Given the description of an element on the screen output the (x, y) to click on. 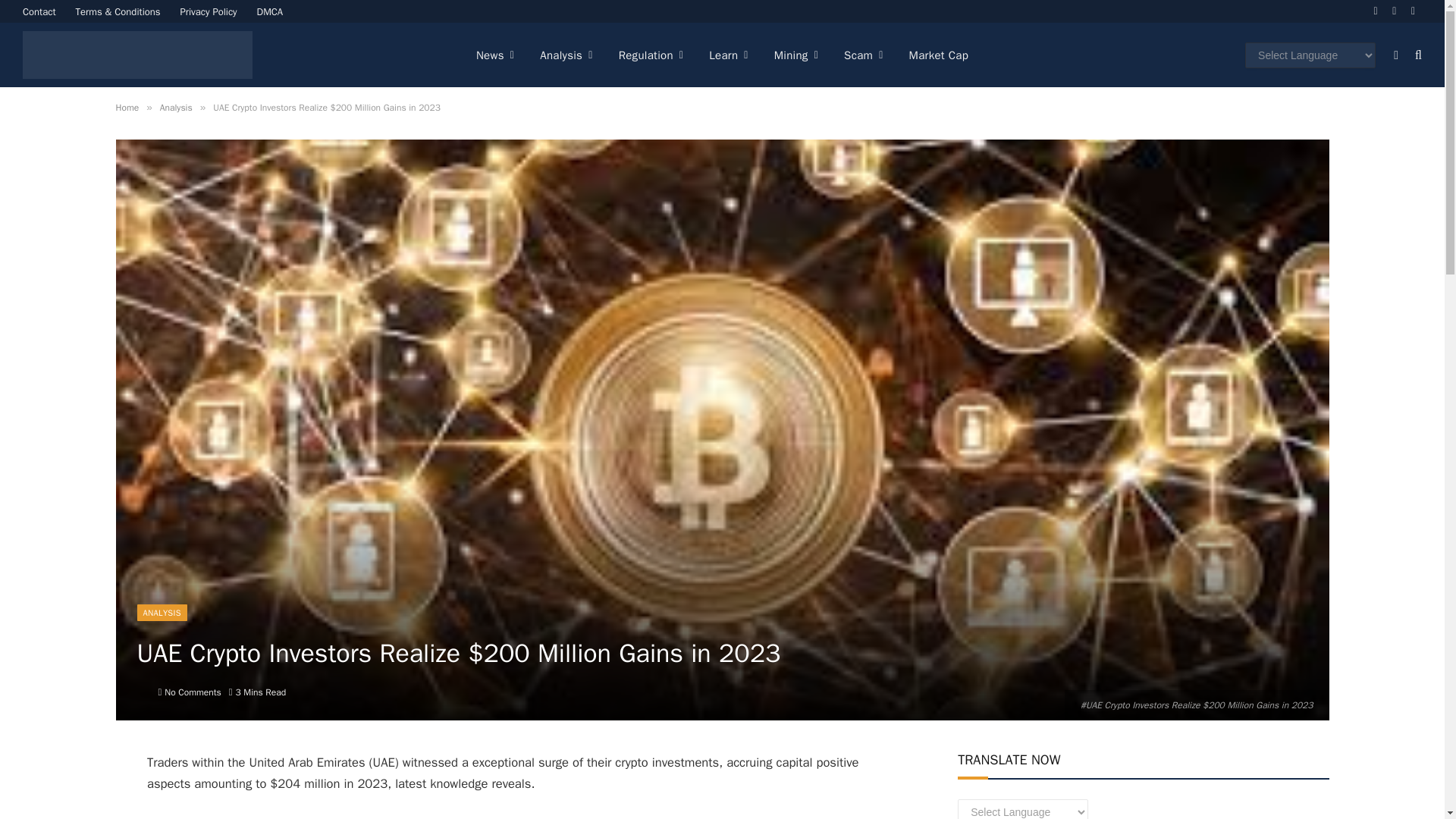
Analysis (566, 54)
Privacy Policy (208, 11)
Contact (39, 11)
News (495, 54)
Crypto and Coin (137, 54)
DMCA (270, 11)
